Given the description of an element on the screen output the (x, y) to click on. 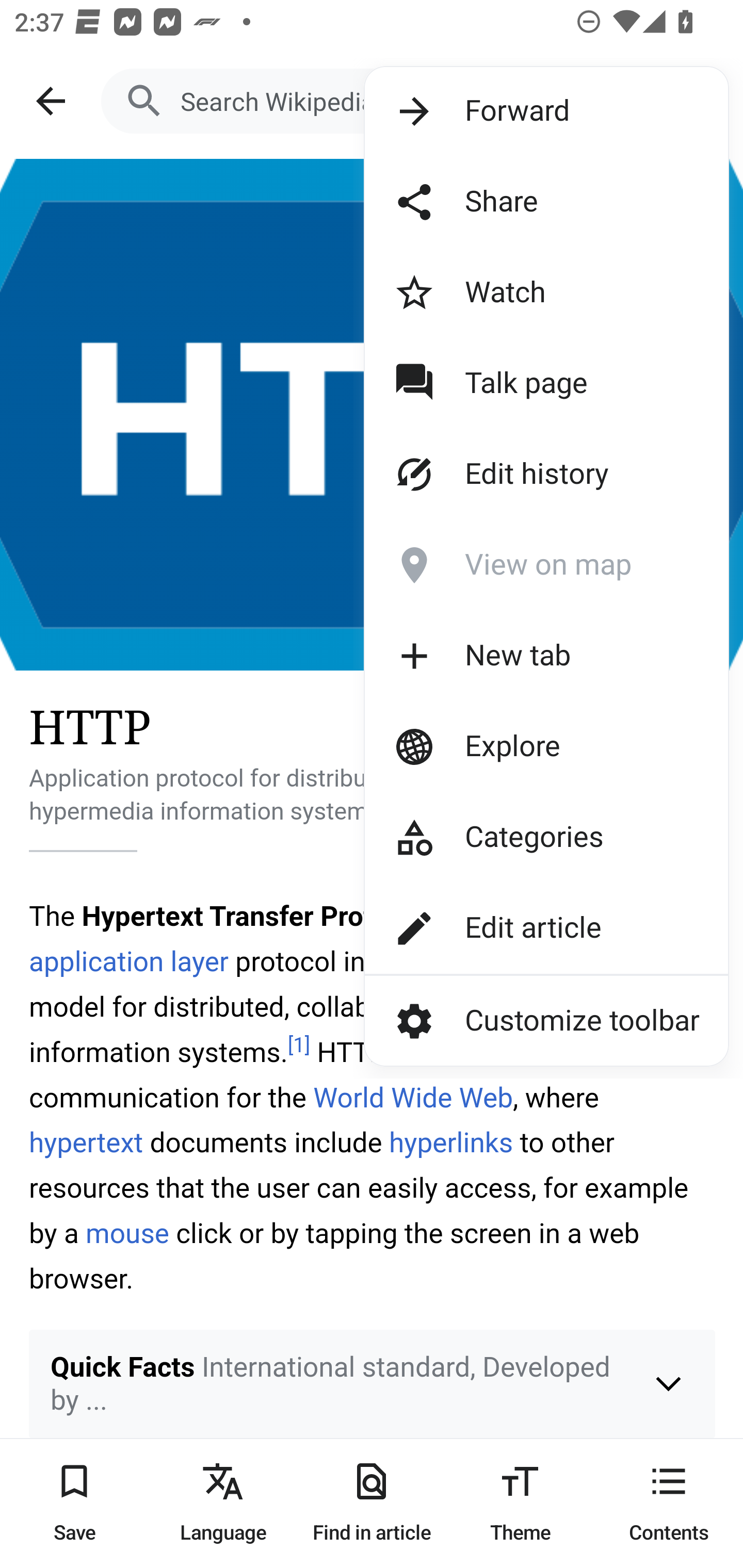
Forward (512, 110)
Share (512, 201)
Watch (512, 292)
Talk page (512, 383)
Edit history (512, 474)
View on map (512, 564)
New tab (512, 654)
Explore (512, 745)
Categories (512, 836)
Edit article (512, 927)
Customize toolbar (546, 1020)
